Given the description of an element on the screen output the (x, y) to click on. 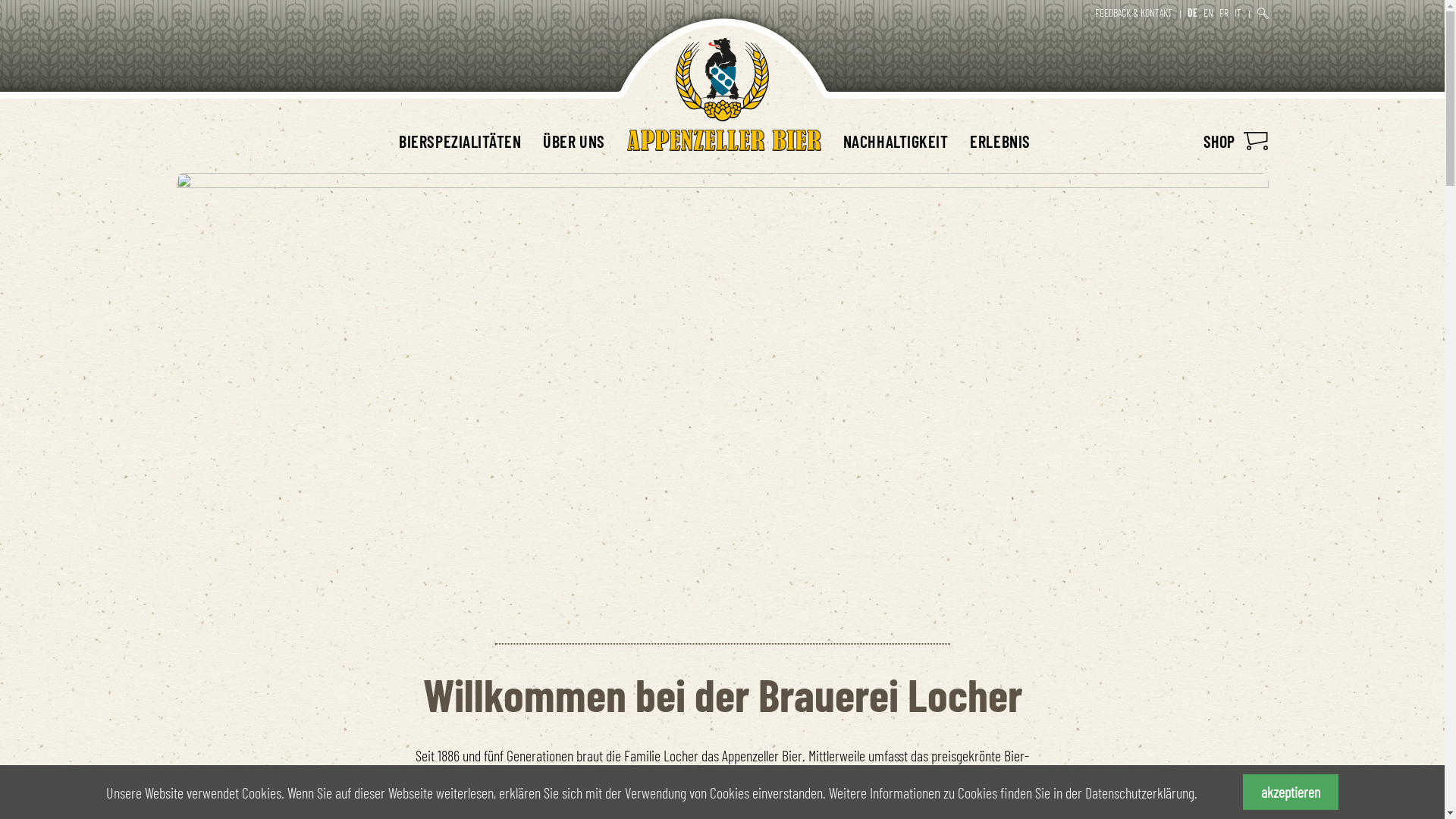
ERLEBNIS Element type: text (999, 140)
IT Element type: text (1237, 12)
SHOP Element type: text (1234, 141)
FR Element type: text (1223, 12)
NACHHALTIGKEIT Element type: text (895, 140)
EN Element type: text (1208, 12)
FEEDBACK & KONTAKT Element type: text (1133, 12)
akzeptieren Element type: text (1290, 791)
